Given the description of an element on the screen output the (x, y) to click on. 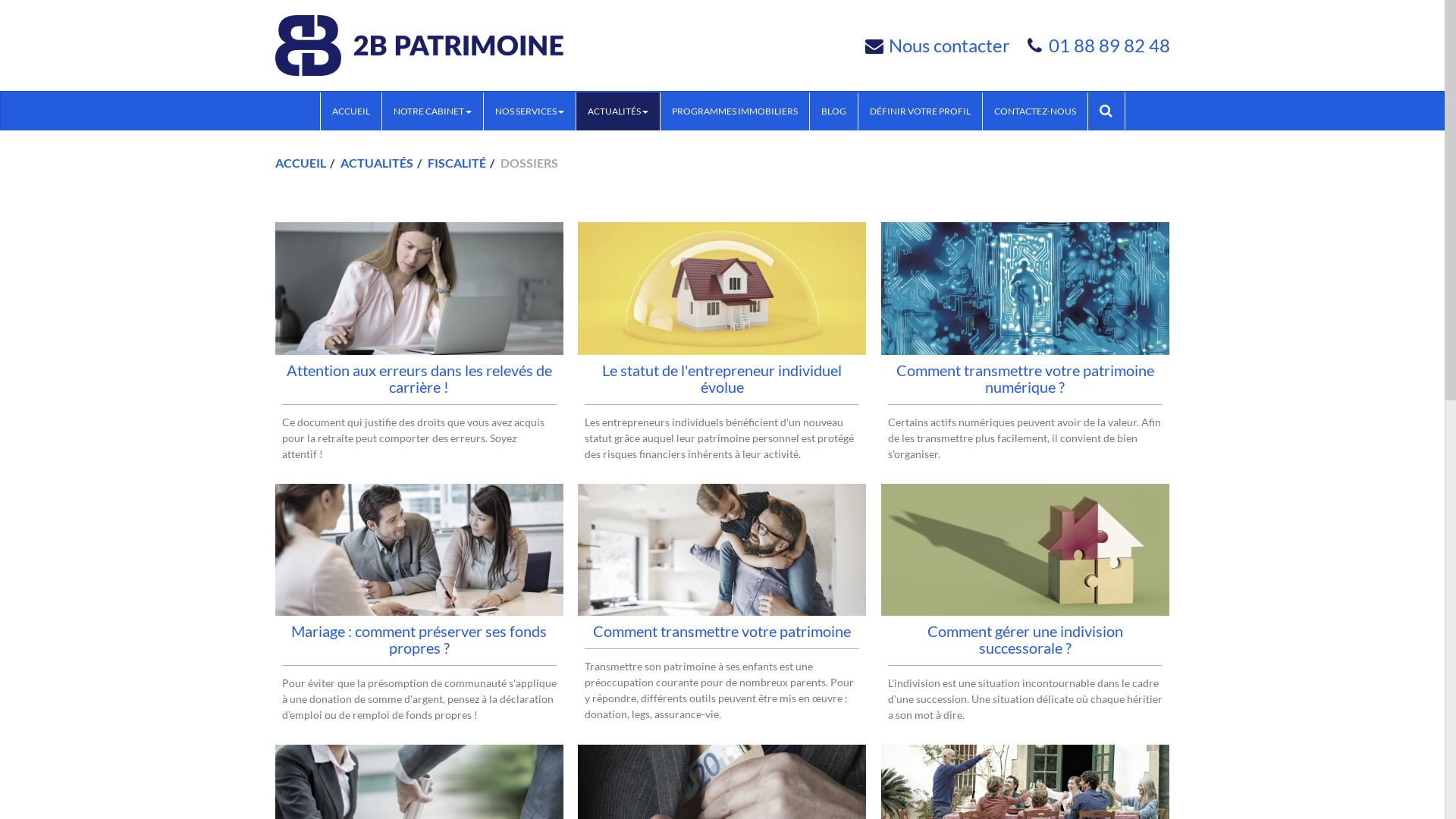
RECHERCHER Element type: text (1105, 110)
CONTACTEZ-NOUS Element type: text (1034, 111)
NOS SERVICES Element type: text (529, 111)
ACCUEIL Element type: text (350, 111)
BLOG Element type: text (833, 111)
ACCUEIL Element type: text (299, 162)
NOTRE CABINET Element type: text (432, 111)
Nous contacter Element type: text (949, 45)
Accueil Element type: hover (418, 45)
PROGRAMMES IMMOBILIERS Element type: text (733, 111)
01 88 89 82 48 Element type: text (1108, 45)
